Given the description of an element on the screen output the (x, y) to click on. 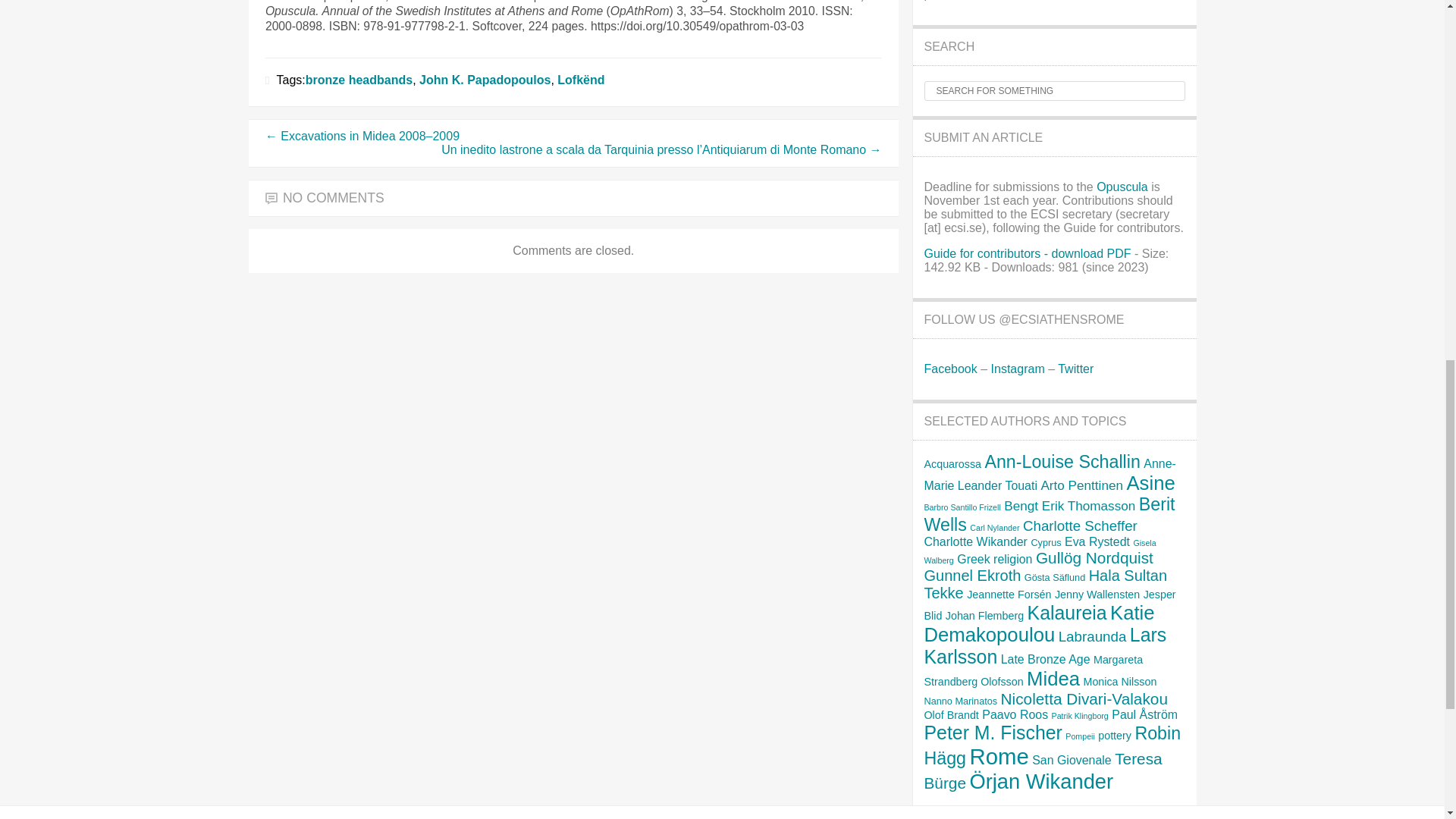
Guide for contributors - download PDF (1027, 253)
bronze headbands (358, 79)
Instagram (1018, 368)
Facebook (949, 368)
Acquarossa (952, 463)
Twitter (1075, 368)
Opuscula (1122, 186)
John K. Papadopoulos (484, 79)
981 downloads (1027, 253)
